Given the description of an element on the screen output the (x, y) to click on. 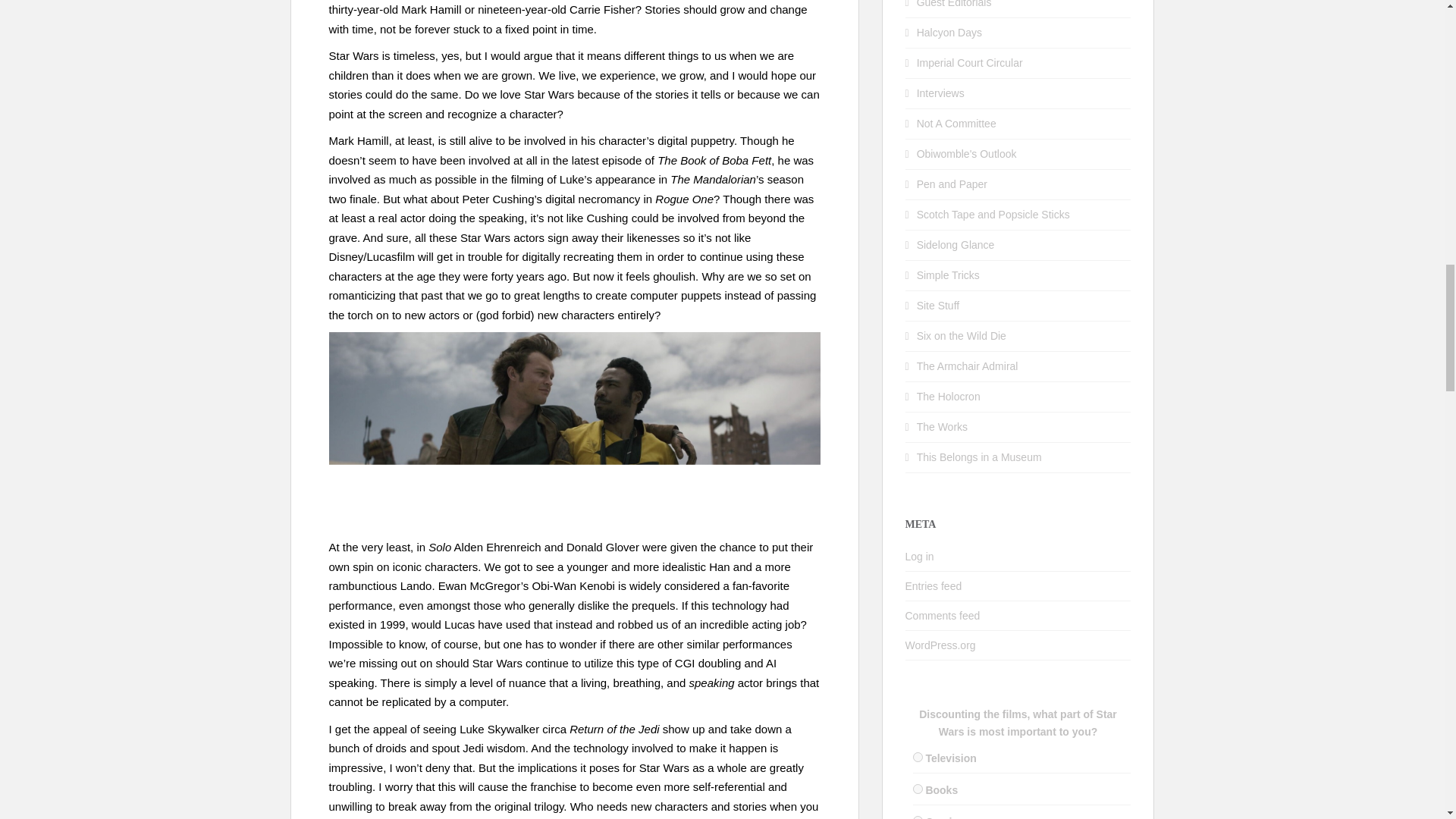
78 (917, 788)
77 (917, 757)
79 (917, 817)
